Given the description of an element on the screen output the (x, y) to click on. 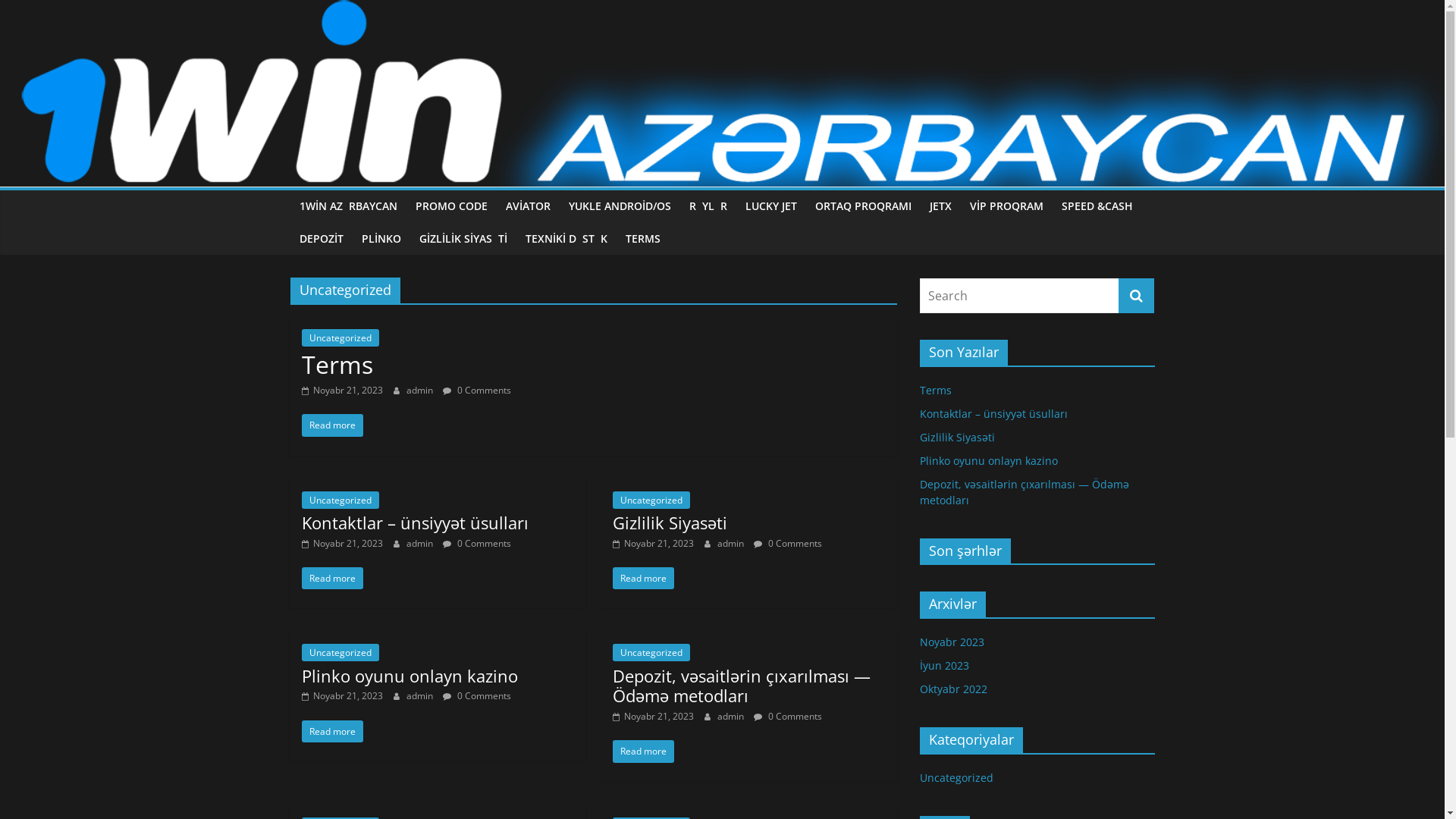
Read more Element type: text (332, 578)
DEPOZIT Element type: text (320, 238)
admin Element type: text (420, 389)
Uncategorized Element type: text (955, 777)
0 Comments Element type: text (476, 542)
admin Element type: text (731, 542)
Uncategorized Element type: text (340, 337)
Uncategorized Element type: text (651, 499)
Noyabr 21, 2023 Element type: text (341, 389)
Uncategorized Element type: text (340, 652)
admin Element type: text (731, 715)
admin Element type: text (420, 695)
ORTAQ PROQRAMI Element type: text (862, 206)
JETX Element type: text (940, 206)
Uncategorized Element type: text (340, 499)
Read more Element type: text (332, 425)
Terms Element type: text (337, 364)
Noyabr 21, 2023 Element type: text (652, 715)
SPEED &CASH Element type: text (1097, 206)
Noyabr 21, 2023 Element type: text (652, 542)
Read more Element type: text (643, 751)
TERMS Element type: text (641, 238)
PLINKO Element type: text (380, 238)
Plinko oyunu onlayn kazino Element type: text (988, 460)
LUCKY JET Element type: text (770, 206)
0 Comments Element type: text (787, 542)
0 Comments Element type: text (476, 389)
YUKLE ANDROID/OS Element type: text (619, 206)
PROMO CODE Element type: text (451, 206)
admin Element type: text (420, 542)
Terms Element type: text (934, 389)
Noyabr 21, 2023 Element type: text (341, 695)
Read more Element type: text (332, 731)
0 Comments Element type: text (787, 715)
VIP PROQRAM Element type: text (1005, 206)
Plinko oyunu onlayn kazino Element type: text (409, 675)
Oktyabr 2022 Element type: text (952, 688)
Noyabr 2023 Element type: text (951, 641)
Read more Element type: text (643, 578)
Noyabr 21, 2023 Element type: text (341, 542)
0 Comments Element type: text (476, 695)
Uncategorized Element type: text (651, 652)
AVIATOR Element type: text (526, 206)
